Given the description of an element on the screen output the (x, y) to click on. 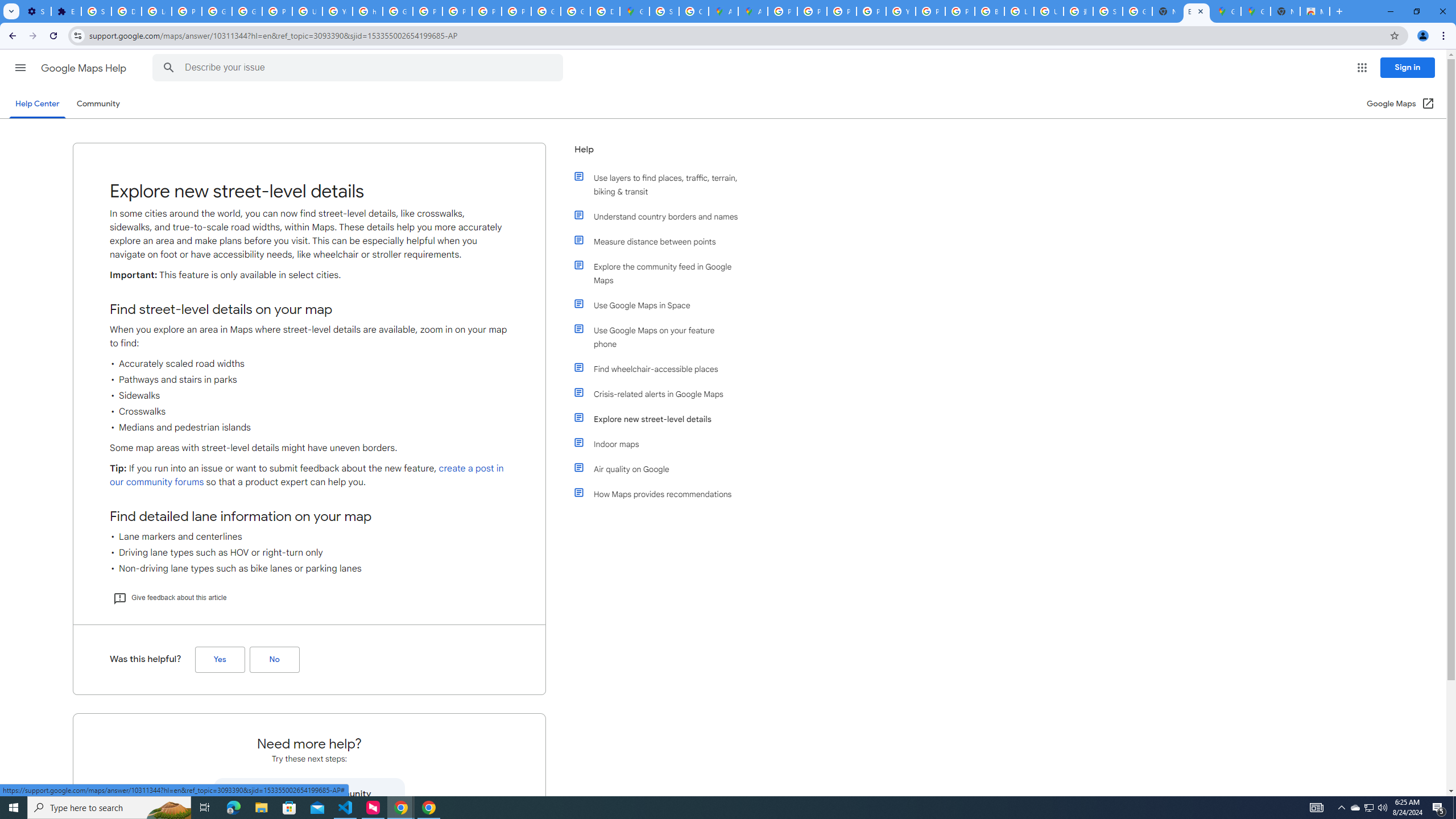
Find wheelchair-accessible places (661, 368)
Describe your issue (359, 67)
Sign in - Google Accounts (664, 11)
YouTube (900, 11)
Use Google Maps in Space (661, 305)
Google Maps Help (84, 68)
